Given the description of an element on the screen output the (x, y) to click on. 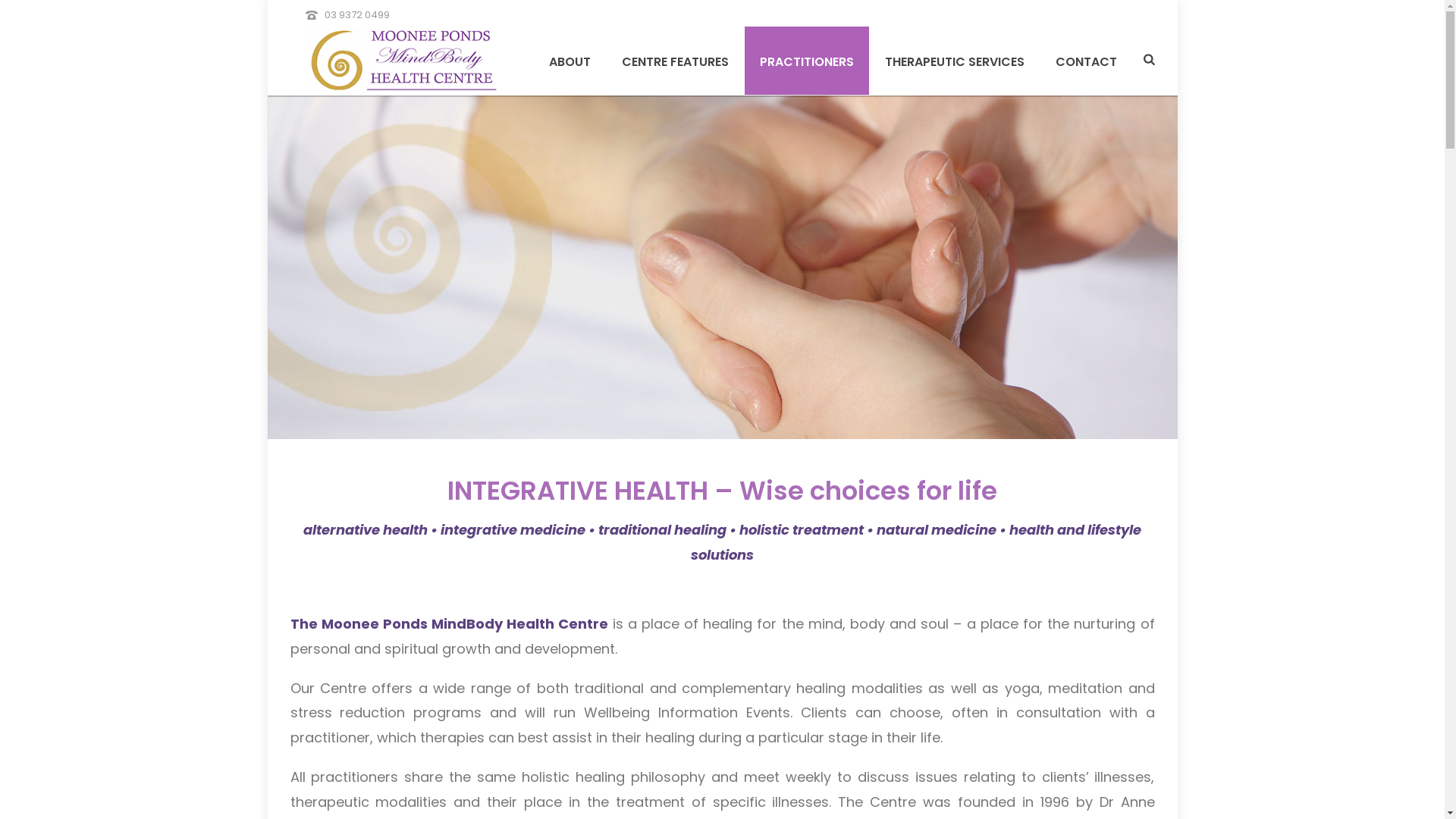
ABOUT Element type: text (569, 60)
03 9372 0499 Element type: text (356, 14)
THERAPEUTIC SERVICES Element type: text (954, 60)
CONTACT Element type: text (1086, 60)
CENTRE FEATURES Element type: text (674, 60)
PRACTITIONERS Element type: text (806, 60)
